Given the description of an element on the screen output the (x, y) to click on. 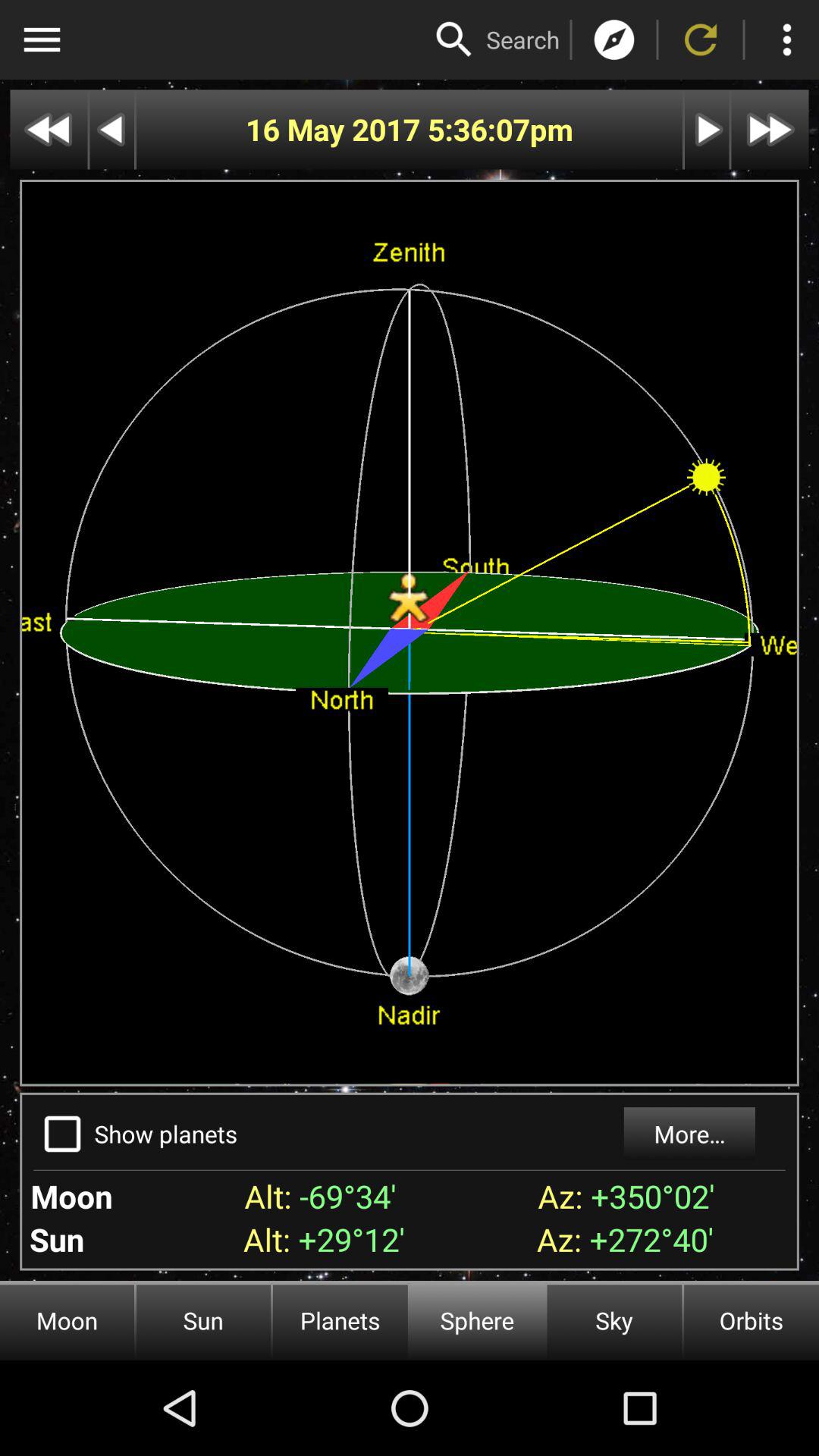
previous option (111, 129)
